Given the description of an element on the screen output the (x, y) to click on. 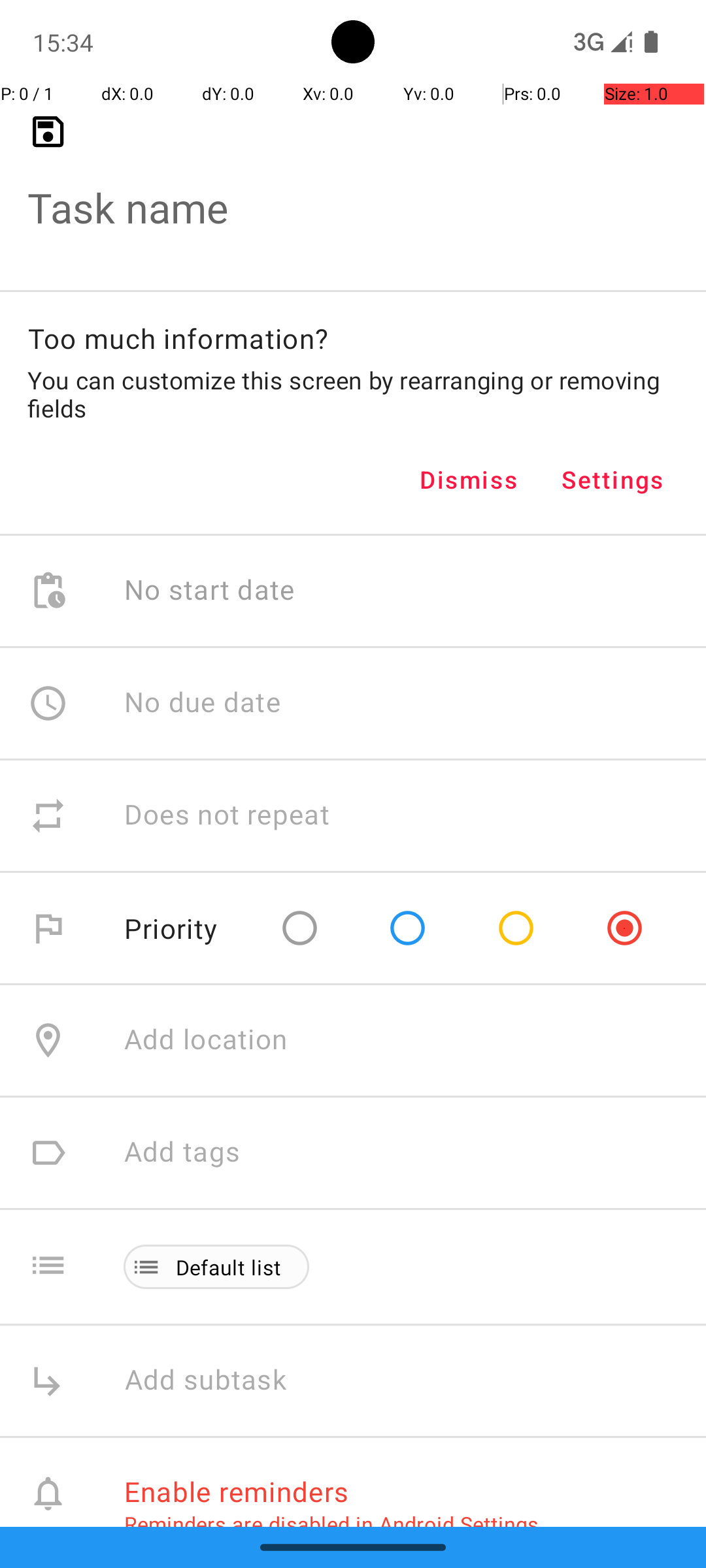
Task name Element type: android.widget.EditText (353, 186)
No due date Element type: android.widget.TextView (202, 702)
No start date Element type: android.widget.TextView (209, 590)
